Given the description of an element on the screen output the (x, y) to click on. 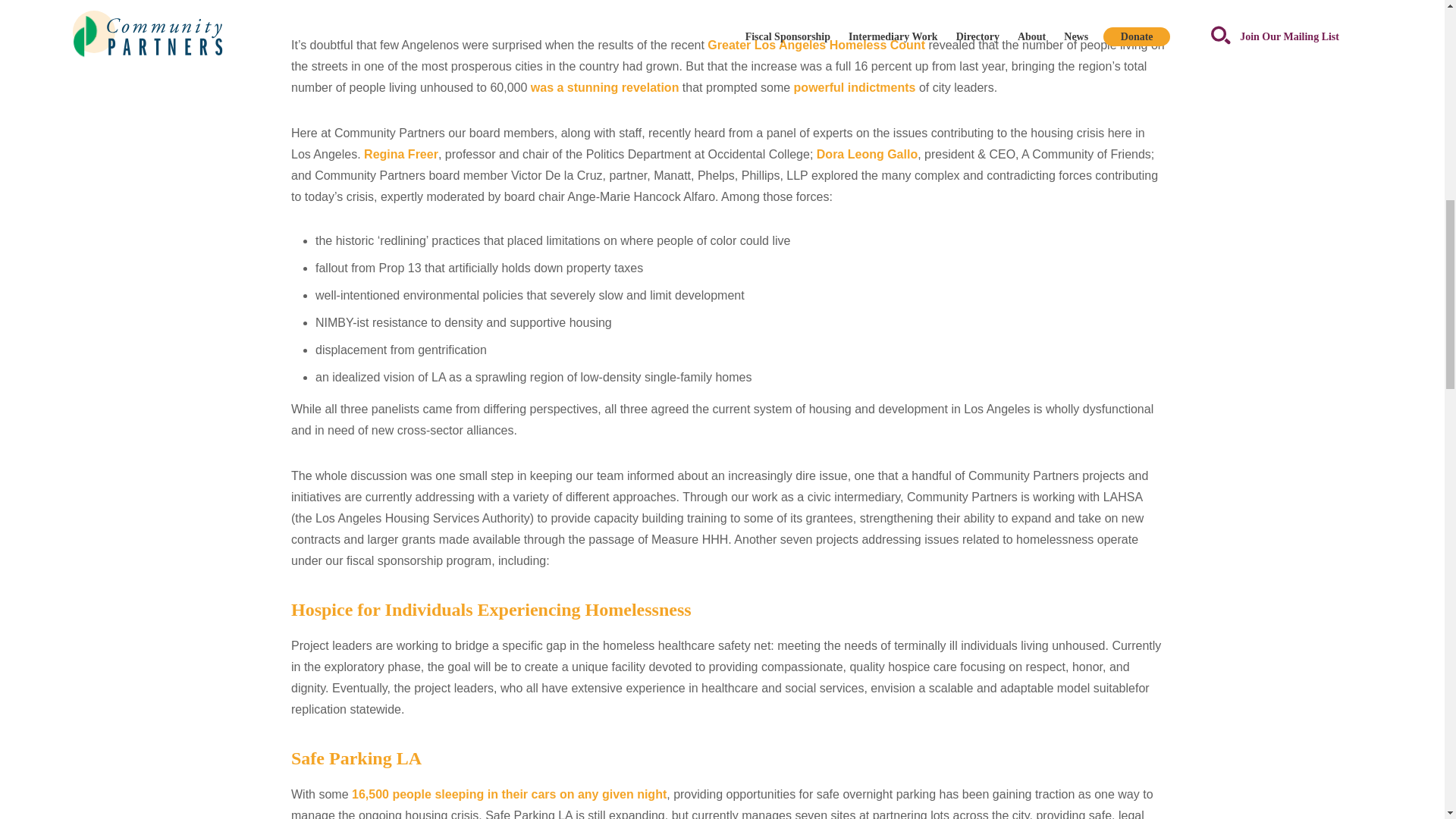
powerful indictments (854, 87)
Safe Parking LA (356, 758)
was a stunning revelation (605, 87)
Greater Los Angeles Homeless Count (815, 44)
Regina Freer (401, 154)
Dora Leong Gallo (866, 154)
Hospice for Individuals Experiencing Homelessness (491, 609)
